Given the description of an element on the screen output the (x, y) to click on. 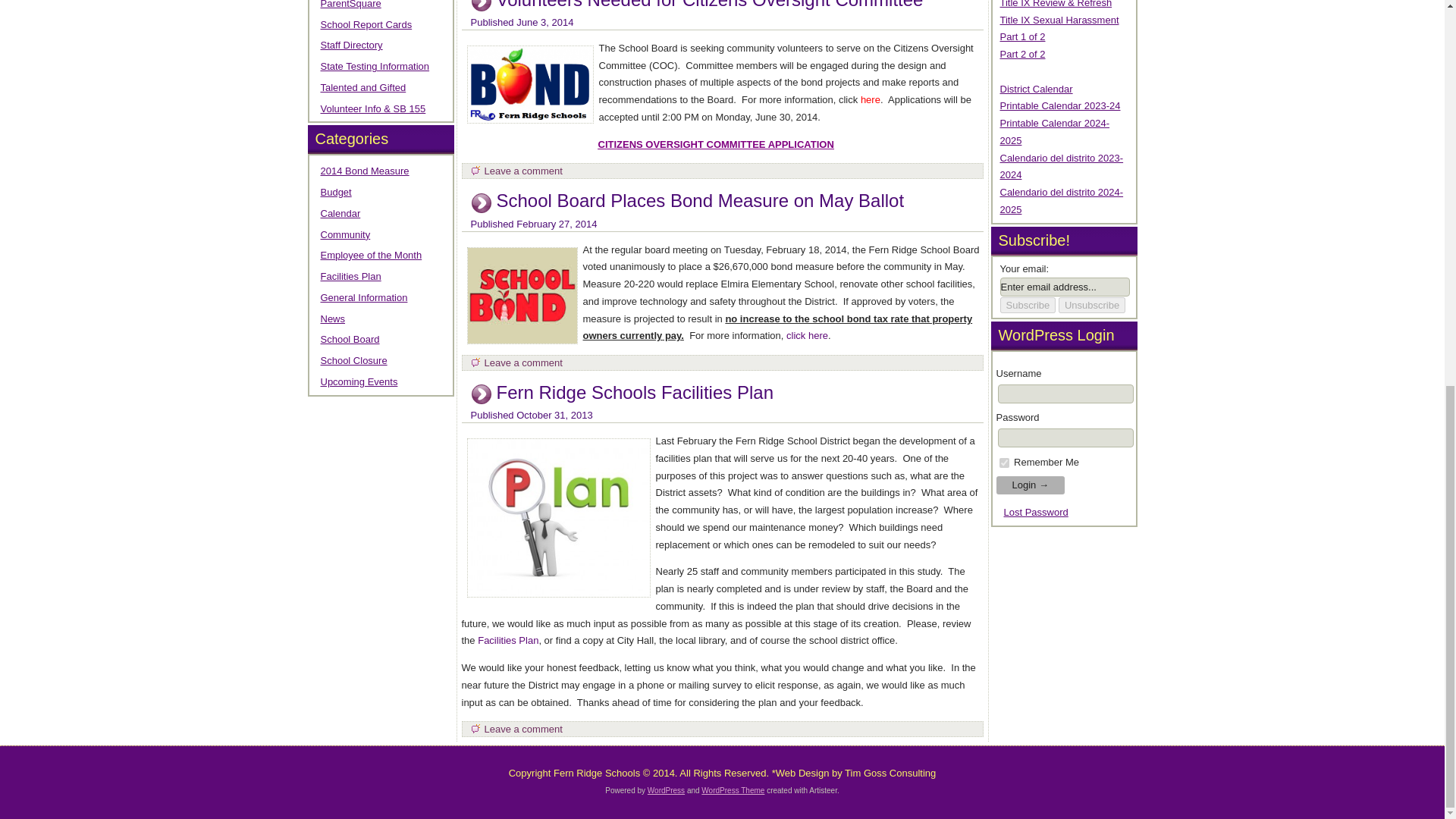
forever (1003, 462)
Enter email address... (1063, 286)
Unsubscribe (1091, 304)
Subscribe (1026, 304)
